Given the description of an element on the screen output the (x, y) to click on. 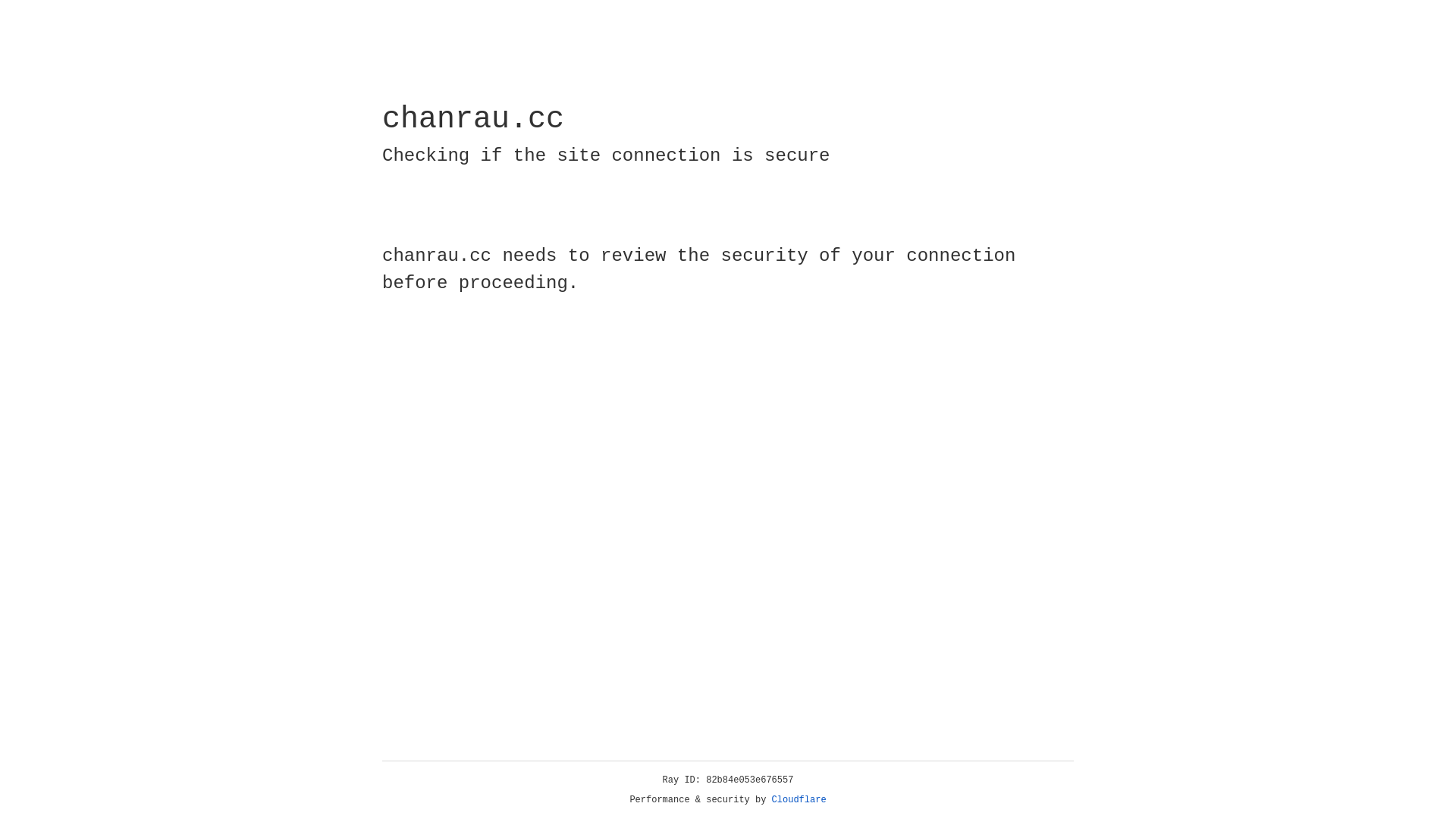
Cloudflare Element type: text (798, 799)
